Given the description of an element on the screen output the (x, y) to click on. 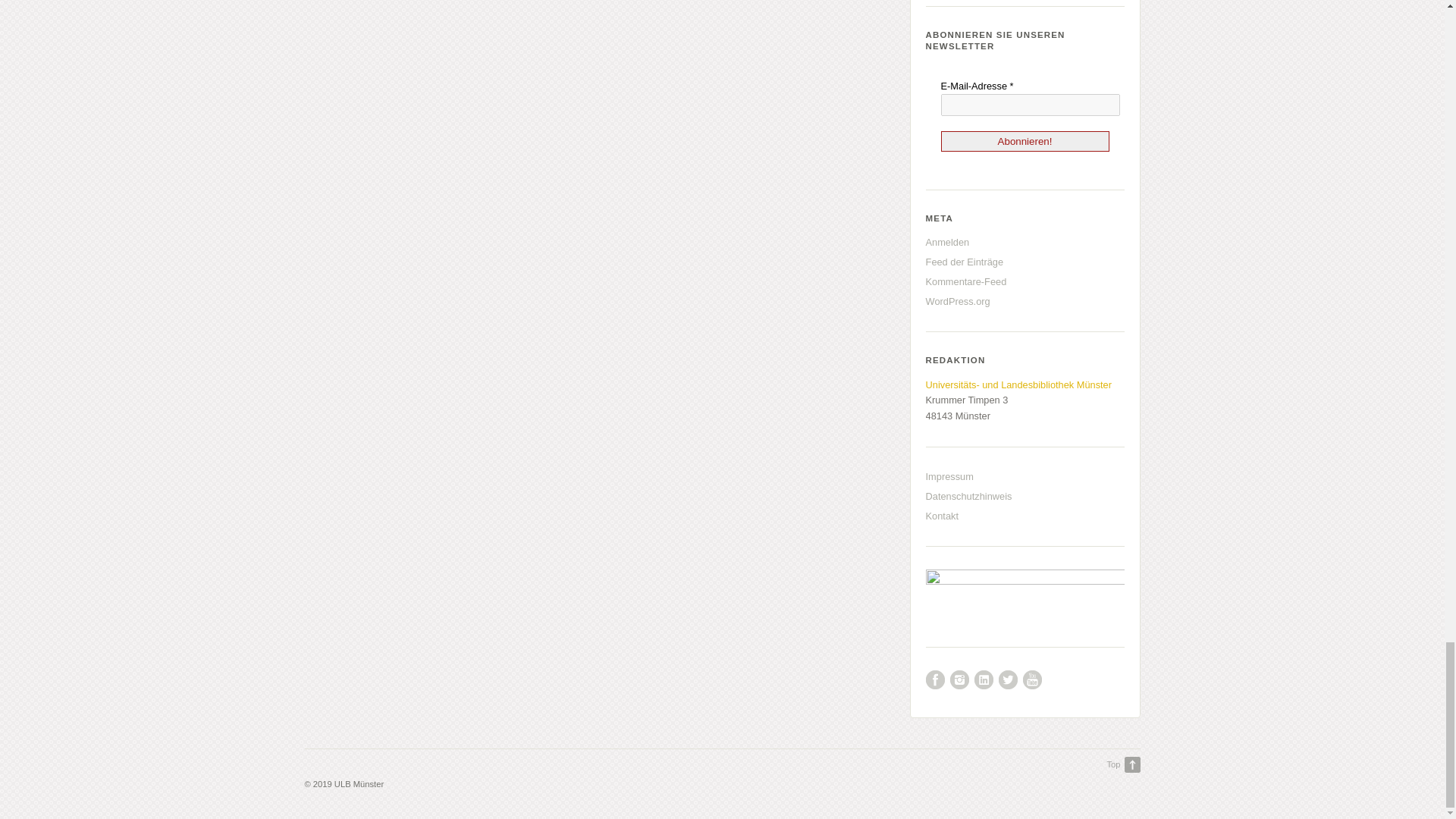
Twitter (1007, 679)
Facebook (935, 679)
Instagram (959, 679)
ULB-Homepage (1019, 384)
E-Mail-Adresse (1029, 105)
Abonnieren! (1024, 141)
YouTube (1032, 679)
LinkedIn (983, 679)
